Given the description of an element on the screen output the (x, y) to click on. 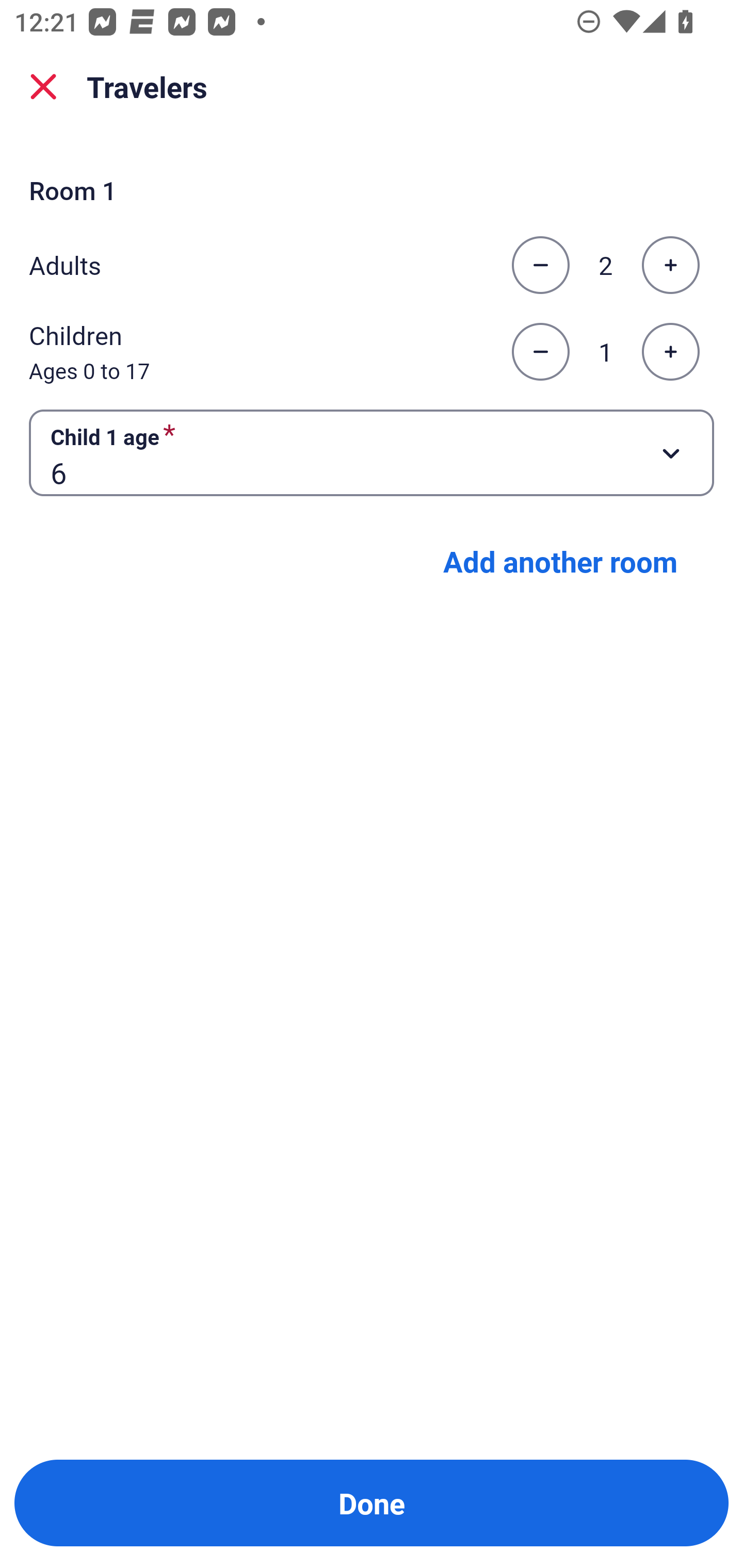
close (43, 86)
Decrease the number of adults (540, 264)
Increase the number of adults (670, 264)
Decrease the number of children (540, 351)
Increase the number of children (670, 351)
Child 1 age required Button 6 (371, 452)
Add another room (560, 561)
Done (371, 1502)
